Given the description of an element on the screen output the (x, y) to click on. 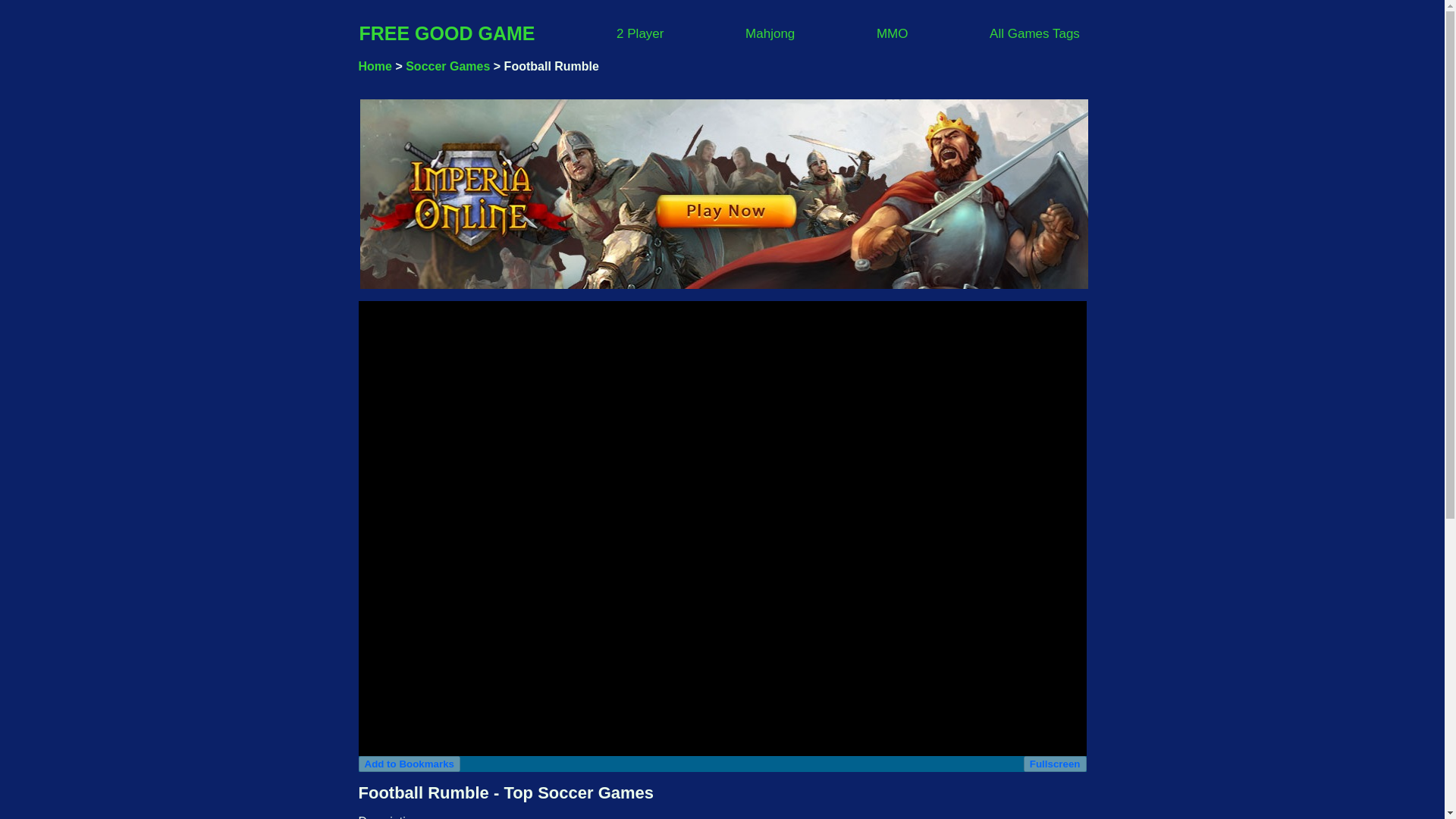
All Games Tags (1035, 32)
Top Mahjong Games (769, 32)
Top MMO Games (892, 32)
Soccer Games (447, 65)
Free Online Games (447, 33)
Mahjong (769, 32)
Home (374, 65)
Free Online Games (374, 65)
MMO (892, 32)
